Given the description of an element on the screen output the (x, y) to click on. 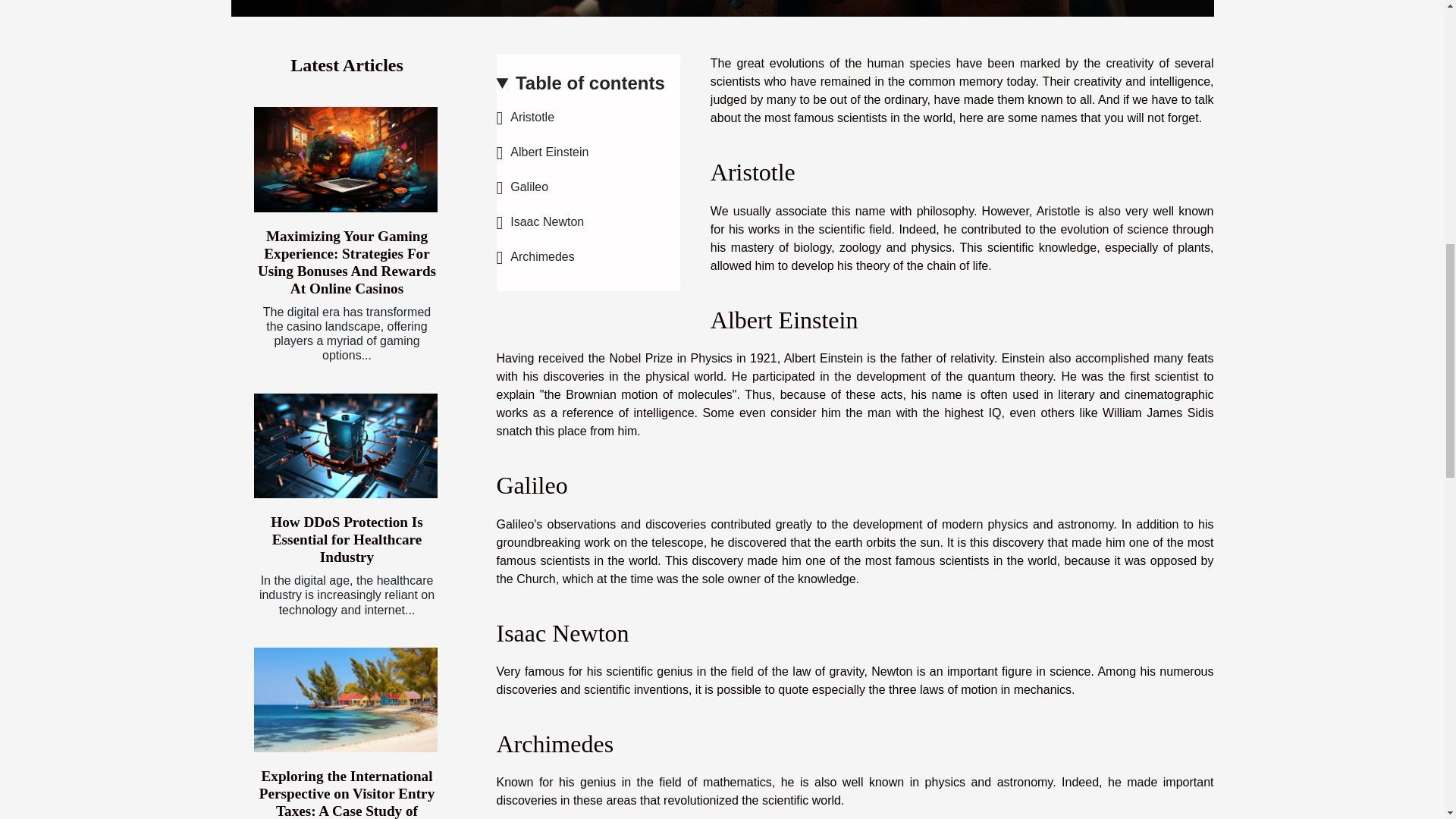
Galileo (522, 186)
How DDoS Protection Is Essential for Healthcare Industry (346, 539)
How DDoS Protection Is Essential for Healthcare Industry (345, 445)
Archimedes (534, 256)
Aristotle (525, 116)
